Given the description of an element on the screen output the (x, y) to click on. 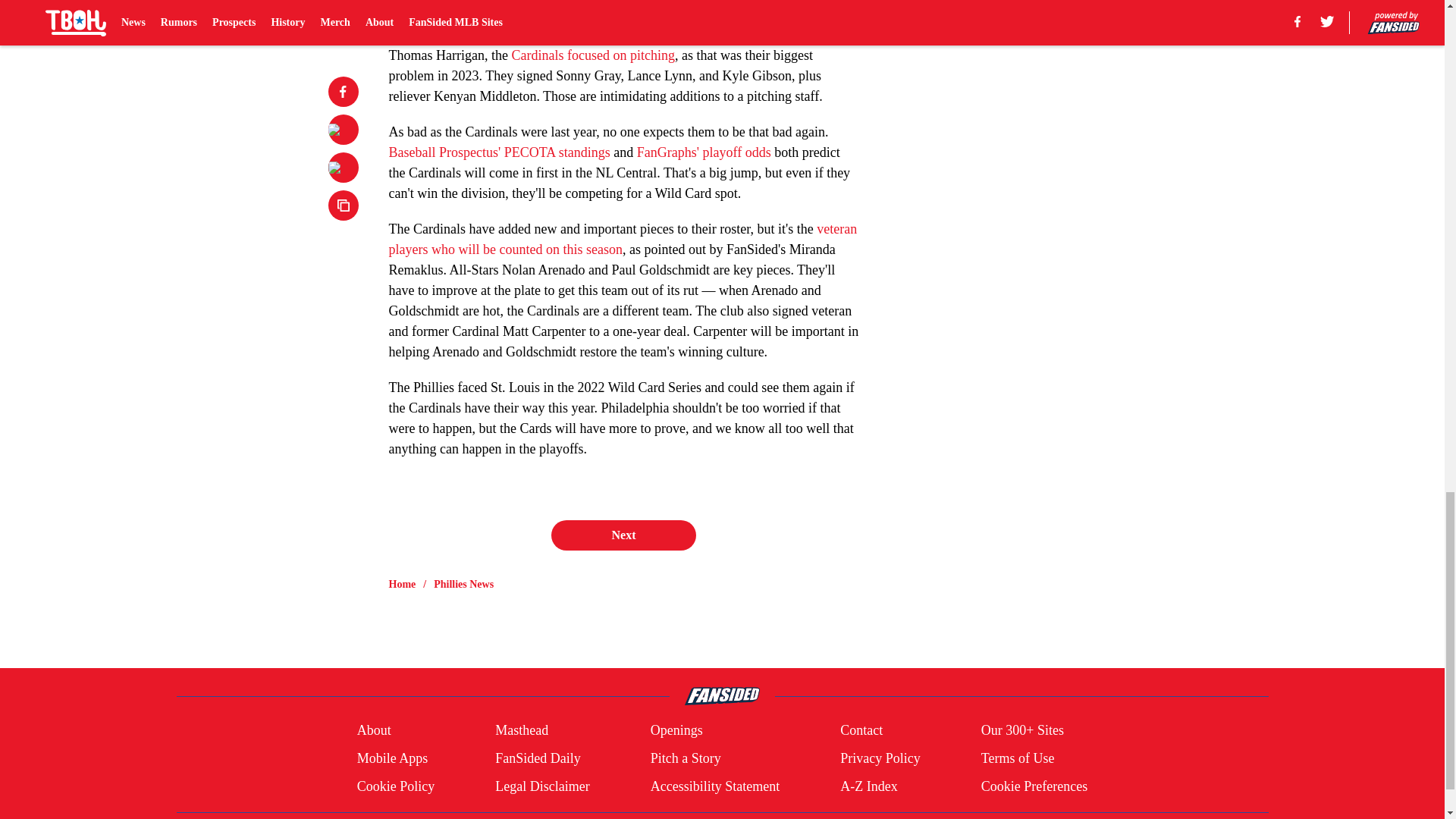
Mobile Apps (392, 758)
Terms of Use (1017, 758)
Pitch a Story (685, 758)
Cardinals focused on pitching (592, 55)
Contact (861, 730)
Baseball Prospectus' PECOTA standings (499, 151)
Home (401, 584)
FanGraphs' playoff odds (704, 151)
Privacy Policy (880, 758)
FanSided Daily (537, 758)
Next (622, 535)
veteran players who will be counted on this season (622, 239)
Phillies News (463, 584)
Openings (676, 730)
Masthead (521, 730)
